Given the description of an element on the screen output the (x, y) to click on. 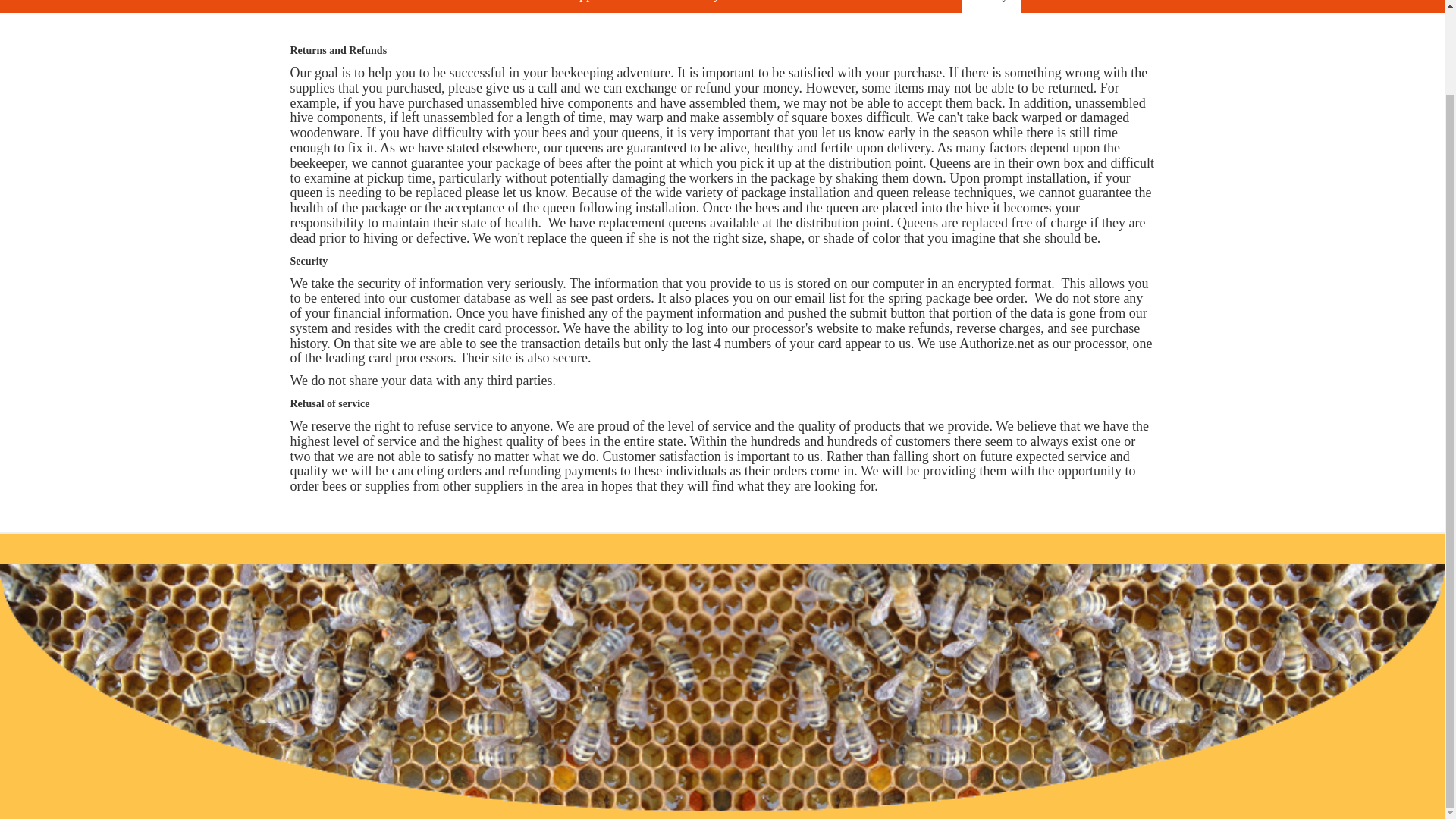
News (526, 6)
Policy (991, 6)
Education (839, 6)
Contact Us (920, 6)
Services (766, 6)
About Us (461, 6)
Honey (702, 6)
Supplies (588, 6)
Bees (647, 6)
